Given the description of an element on the screen output the (x, y) to click on. 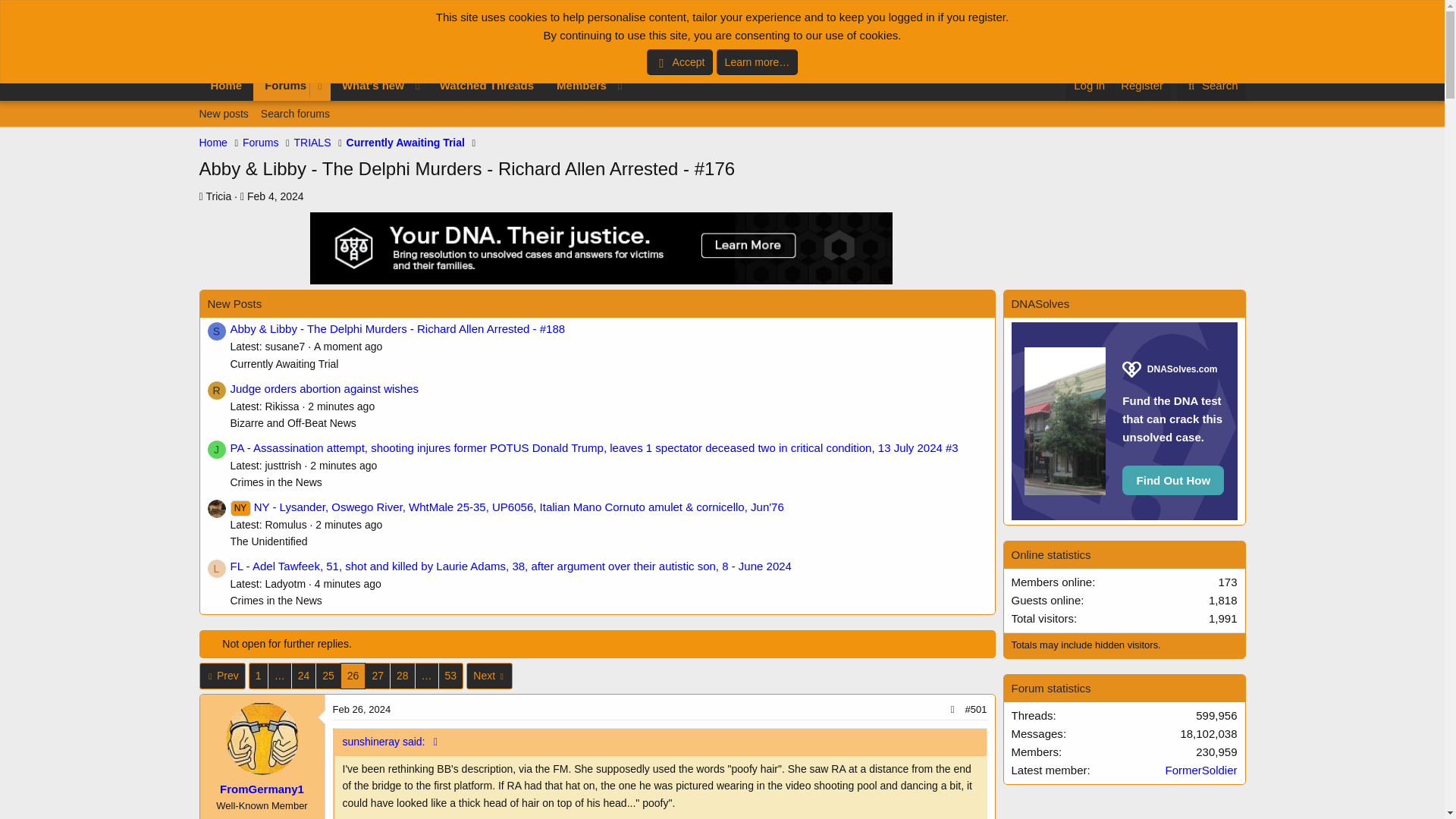
What's new (368, 85)
Members (577, 85)
Tricia (218, 196)
Feb 4, 2024 (275, 196)
Search (1211, 85)
S (216, 331)
Jul 18, 2024 at 12:36 PM (347, 346)
Currently Awaiting Trial (405, 142)
Jul 18, 2024 at 12:35 PM (343, 465)
Jul 18, 2024 at 12:34 PM (348, 524)
New posts (222, 113)
Jul 18, 2024 at 12:32 PM (347, 583)
Jul 18, 2024 at 12:35 PM (340, 406)
Forums (413, 102)
